Given the description of an element on the screen output the (x, y) to click on. 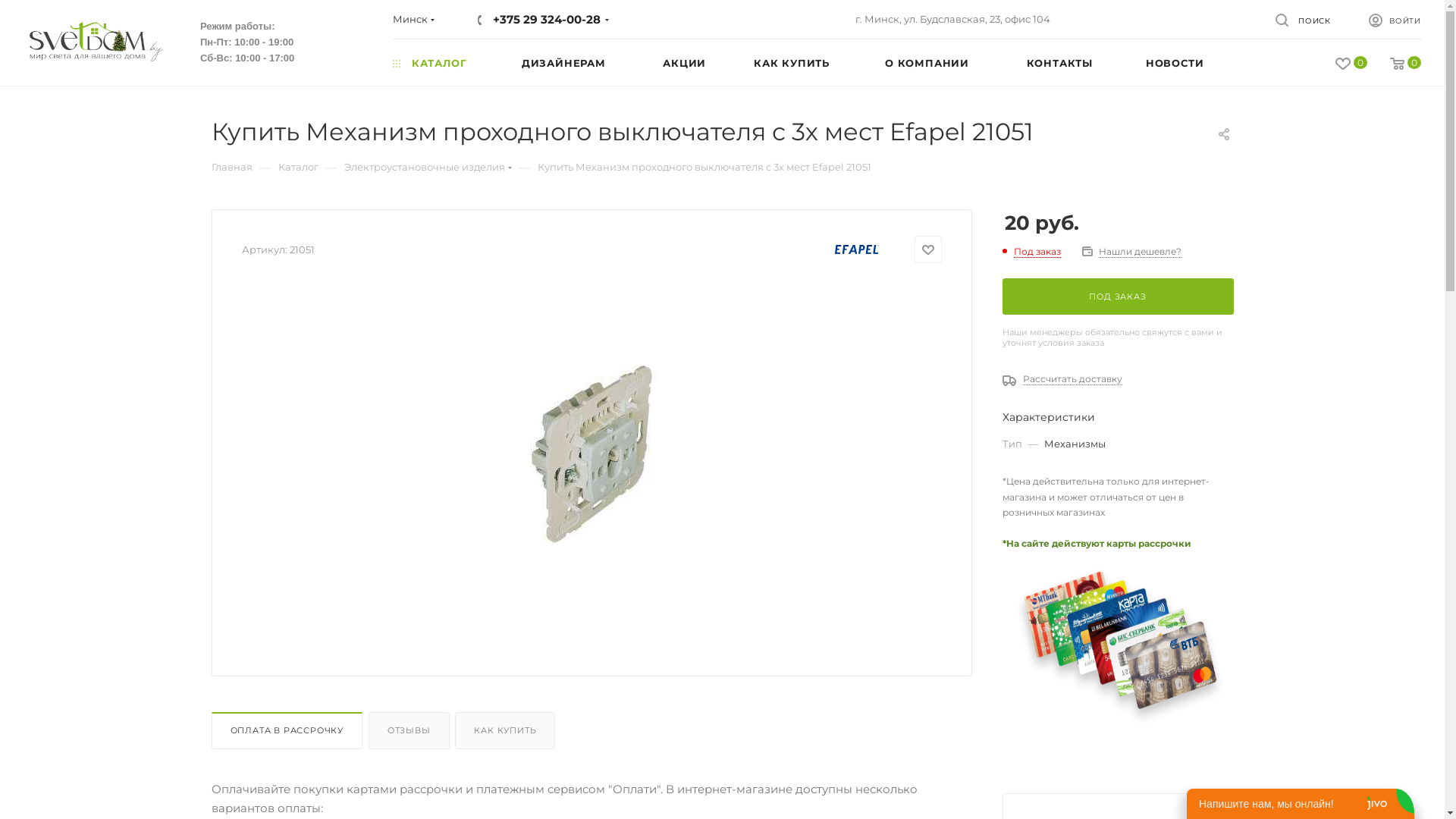
0 Element type: text (1394, 63)
Efapel Element type: hover (856, 249)
+375 29 324-00-28 Element type: text (546, 19)
0 Element type: text (1339, 63)
